Given the description of an element on the screen output the (x, y) to click on. 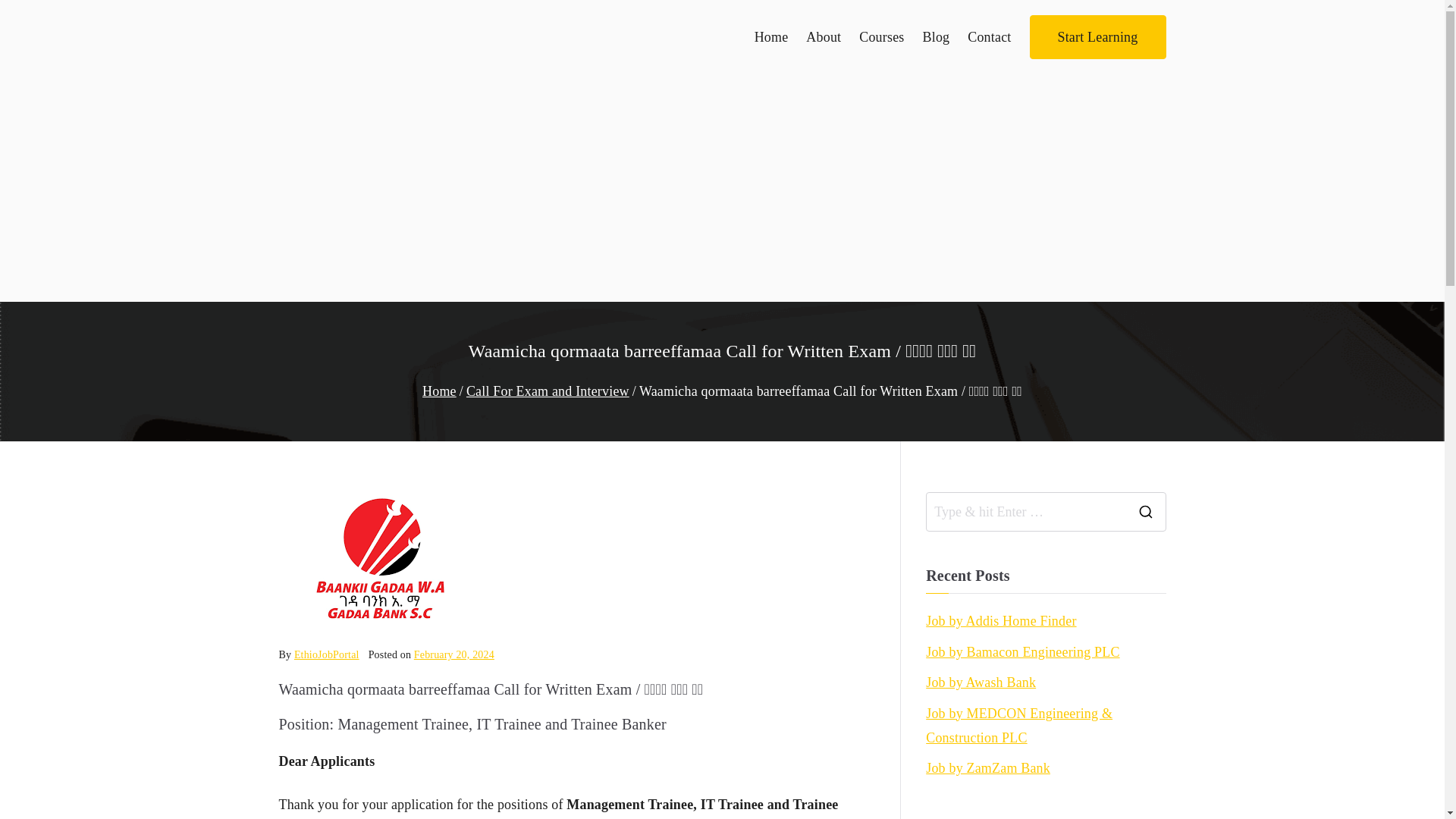
Contact (989, 37)
Call For Exam and Interview (546, 391)
Job by Addis Home Finder (1000, 621)
Search (26, 18)
Search for: (1025, 511)
February 20, 2024 (454, 654)
Courses (881, 37)
Home (439, 391)
EduSkill (336, 56)
